Given the description of an element on the screen output the (x, y) to click on. 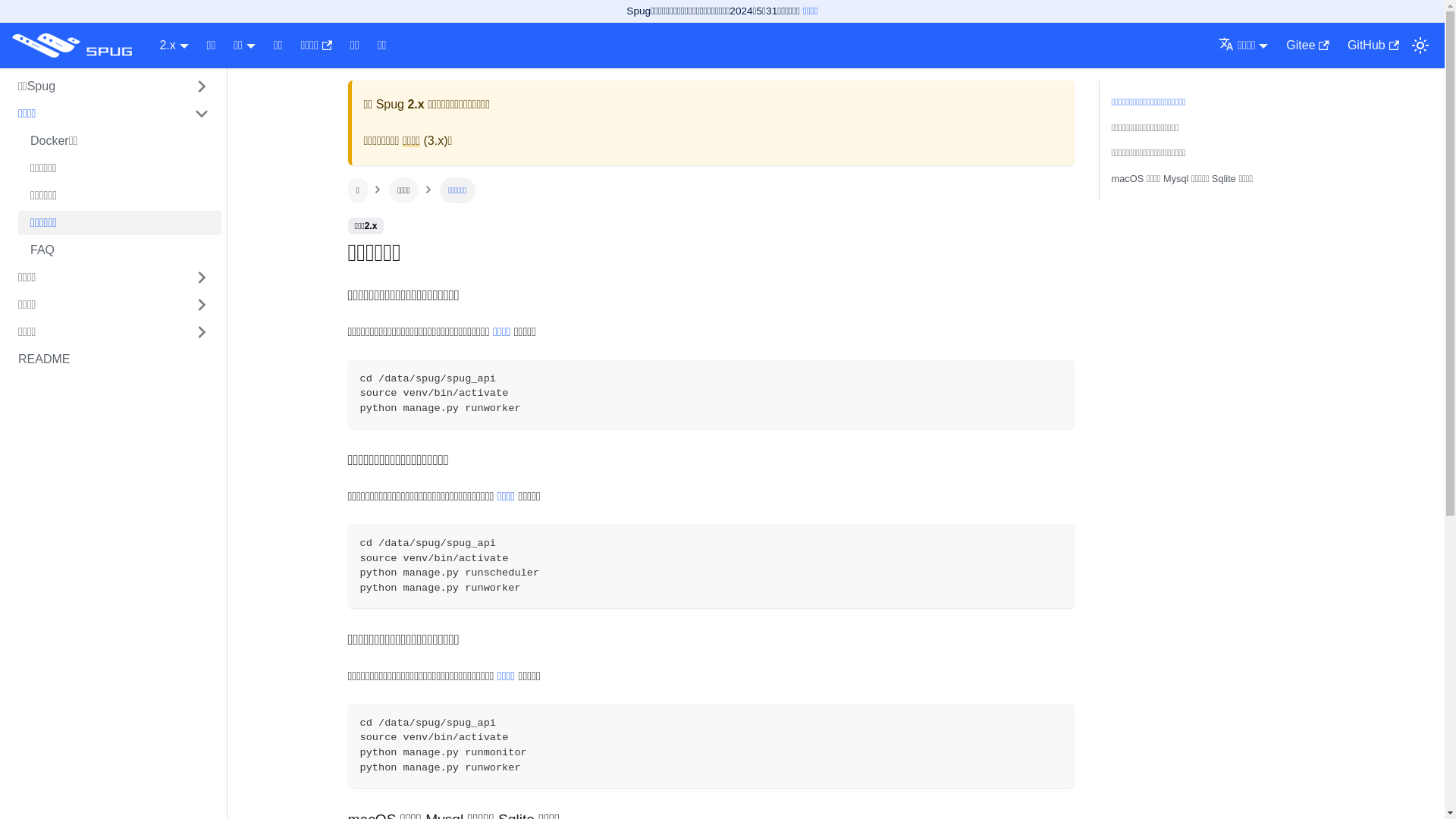
README Element type: text (113, 359)
FAQ Element type: text (119, 250)
GitHub Element type: text (1373, 45)
2.x Element type: text (173, 44)
Gitee Element type: text (1307, 45)
